Given the description of an element on the screen output the (x, y) to click on. 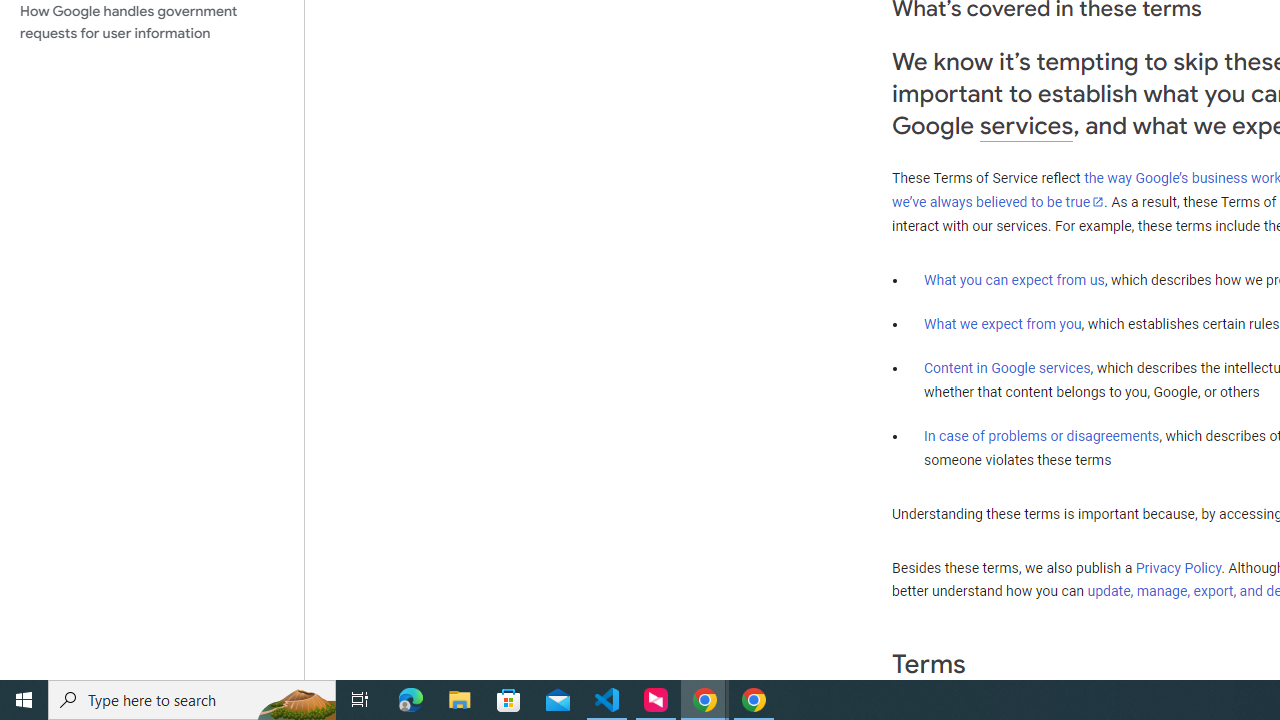
What you can expect from us (1014, 279)
services (1026, 125)
Content in Google services (1007, 368)
What we expect from you (1002, 323)
In case of problems or disagreements (1041, 435)
